Given the description of an element on the screen output the (x, y) to click on. 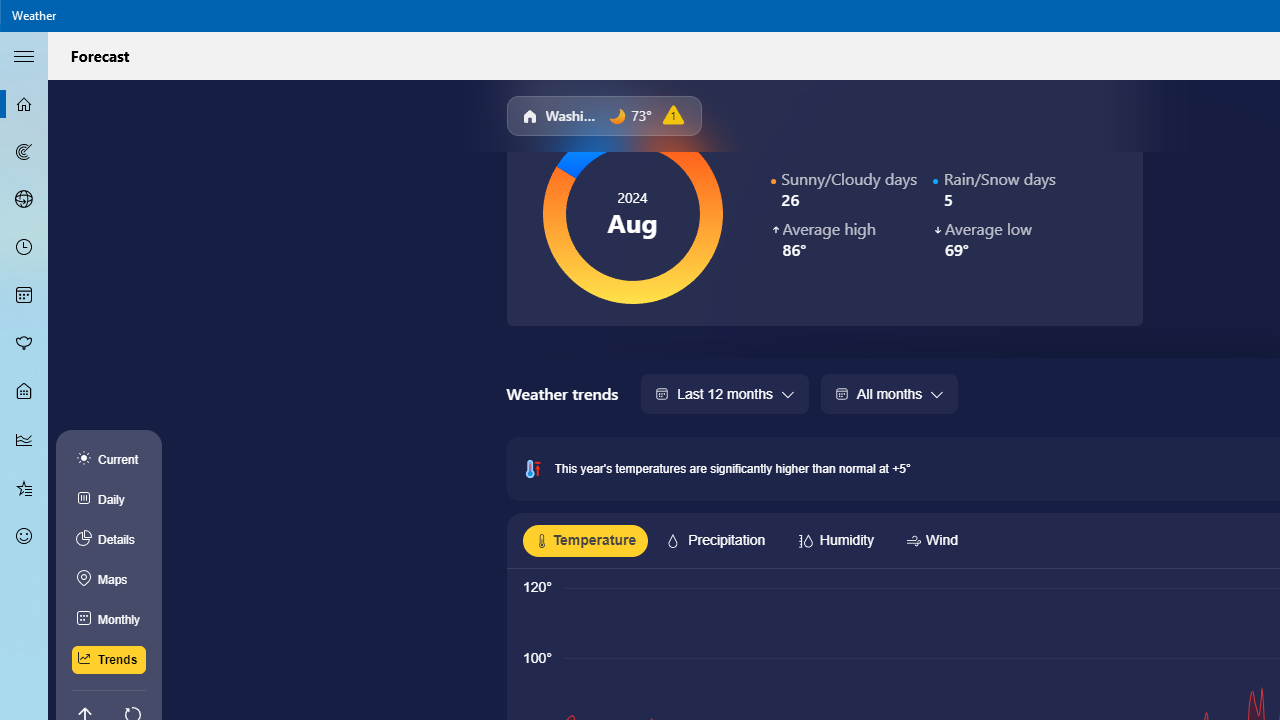
Maps - Not Selected (24, 151)
Monthly Forecast - Not Selected (24, 295)
Forecast - Not Selected (24, 103)
Forecast - Not Selected (24, 103)
Life - Not Selected (24, 391)
3D Maps - Not Selected (24, 199)
